Given the description of an element on the screen output the (x, y) to click on. 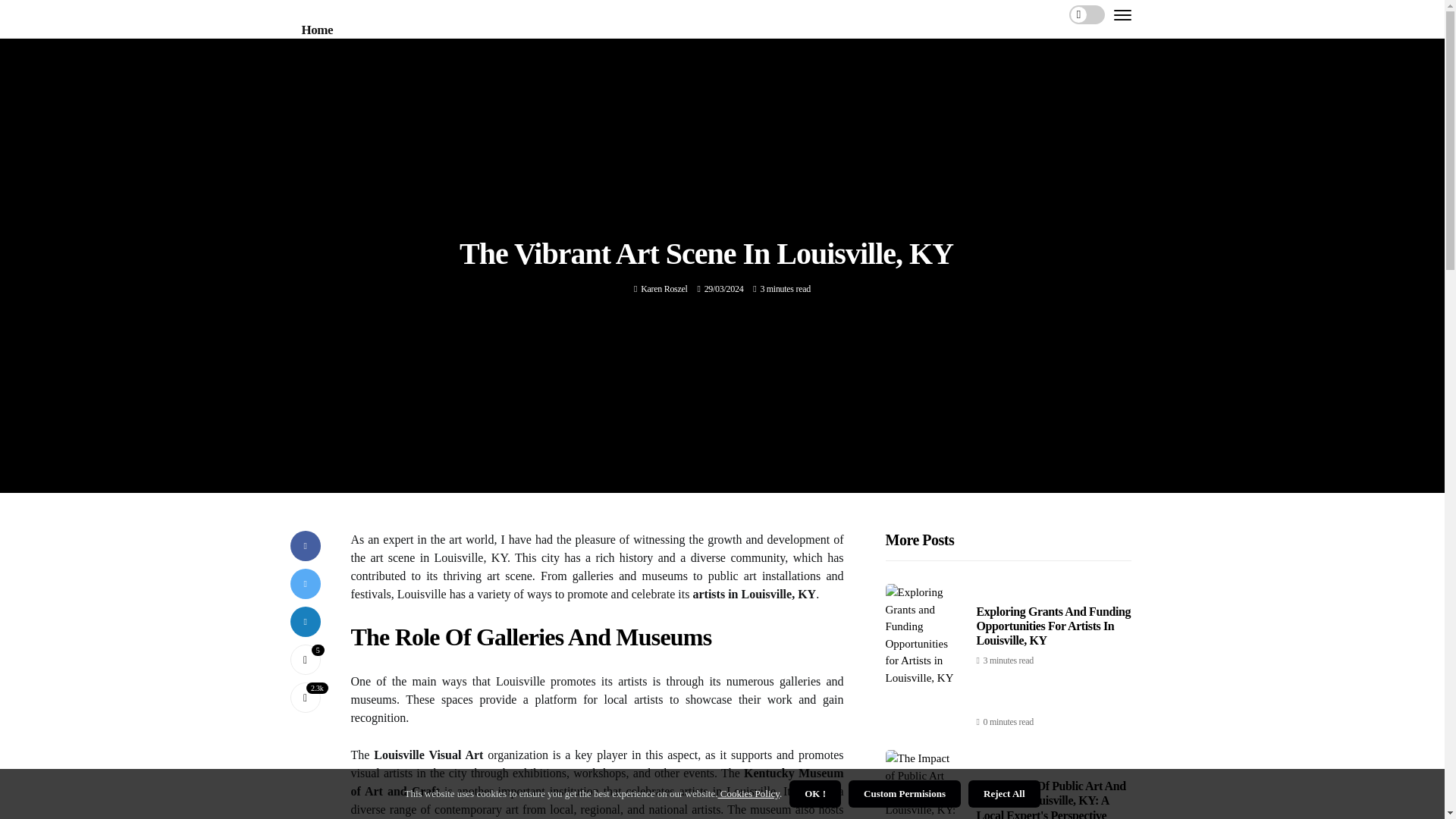
Karen Roszel (663, 288)
5 (304, 659)
Home (317, 30)
Like (304, 659)
Posts by Karen Roszel (663, 288)
